Given the description of an element on the screen output the (x, y) to click on. 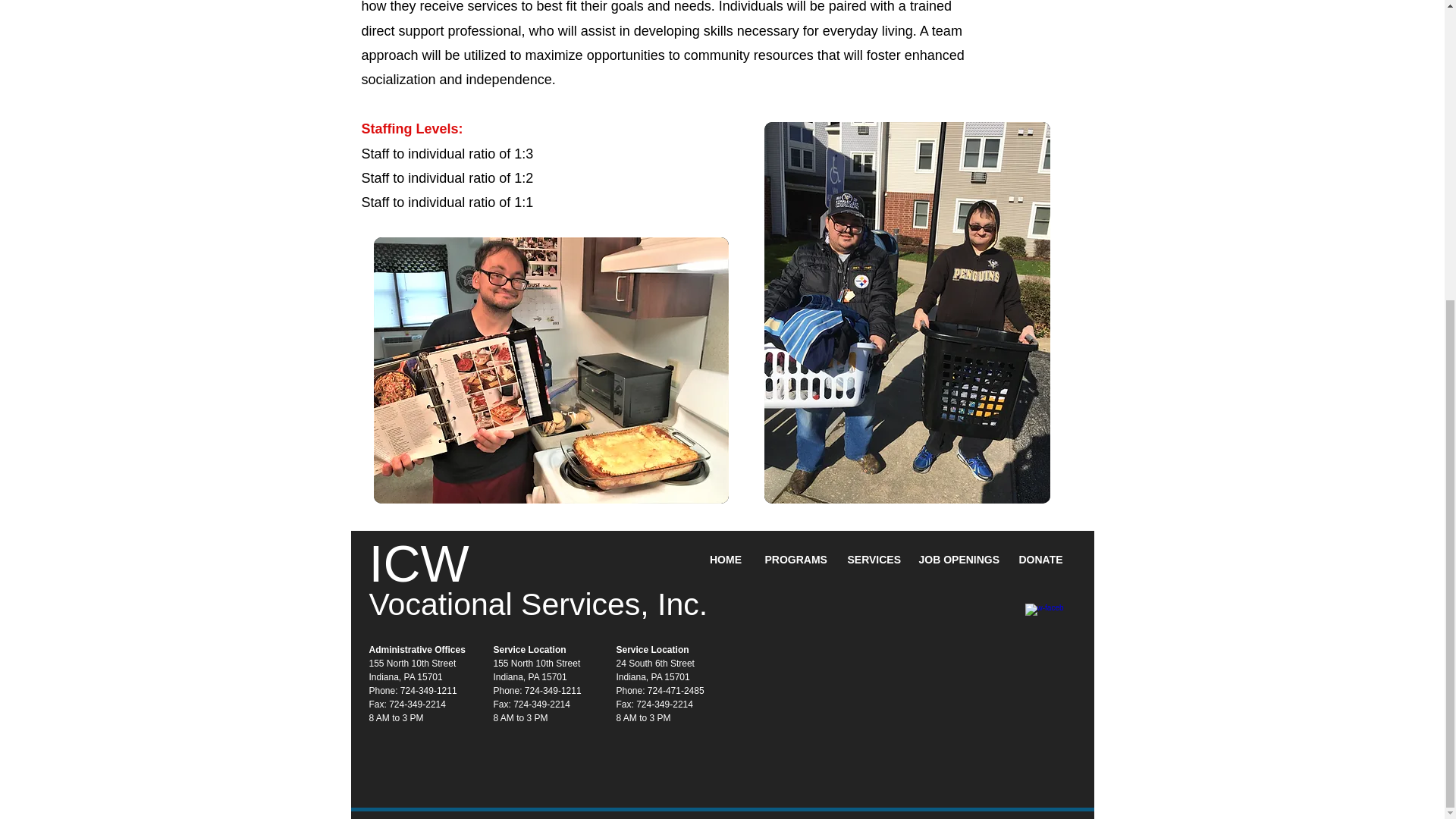
PROGRAMS (794, 560)
DONATE (1040, 560)
JOB OPENINGS (957, 560)
SERVICES (871, 560)
HOME (724, 560)
